Given the description of an element on the screen output the (x, y) to click on. 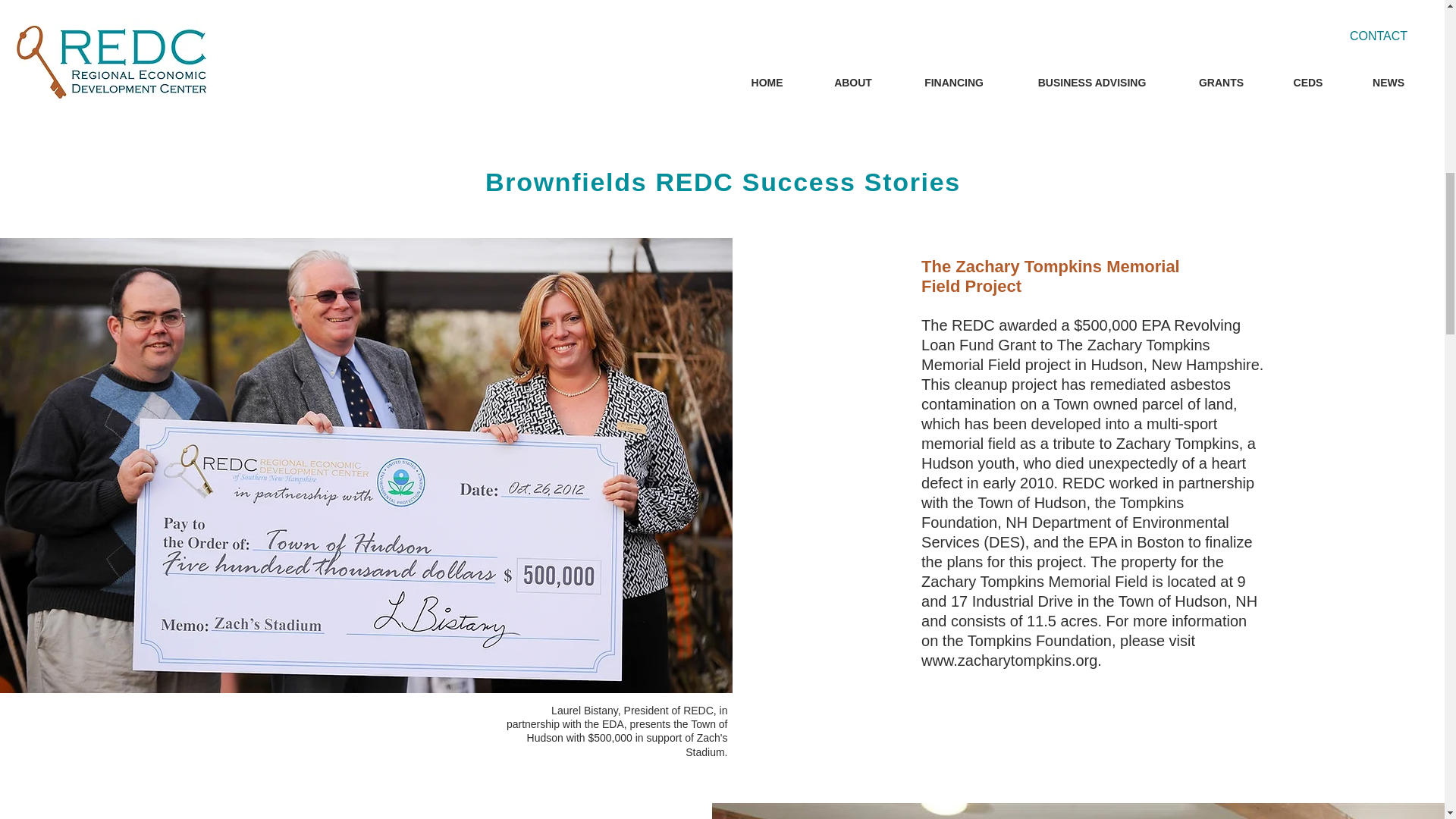
www.zacharytompkins.org (1009, 660)
